Given the description of an element on the screen output the (x, y) to click on. 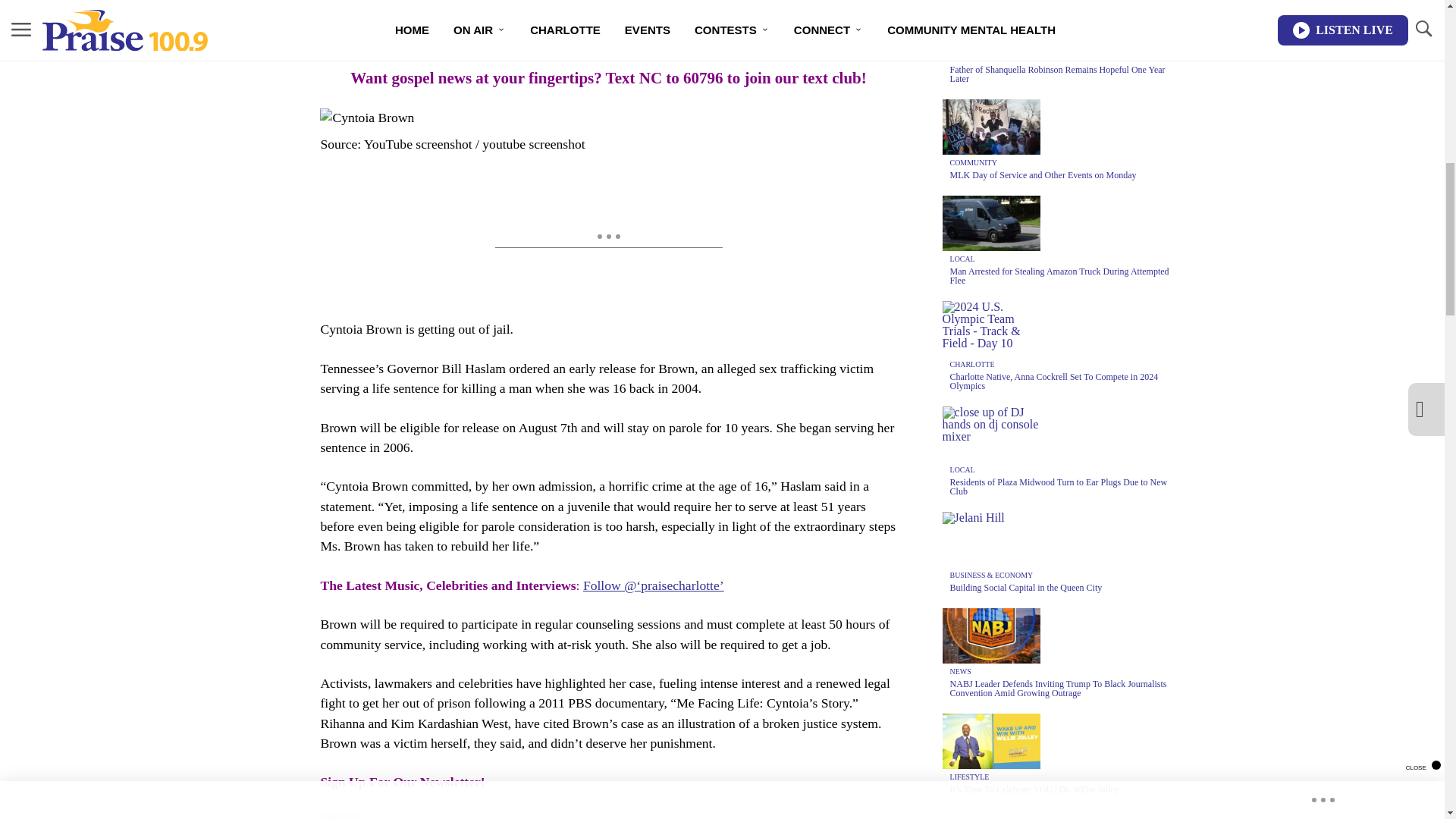
Close (339, 816)
